Given the description of an element on the screen output the (x, y) to click on. 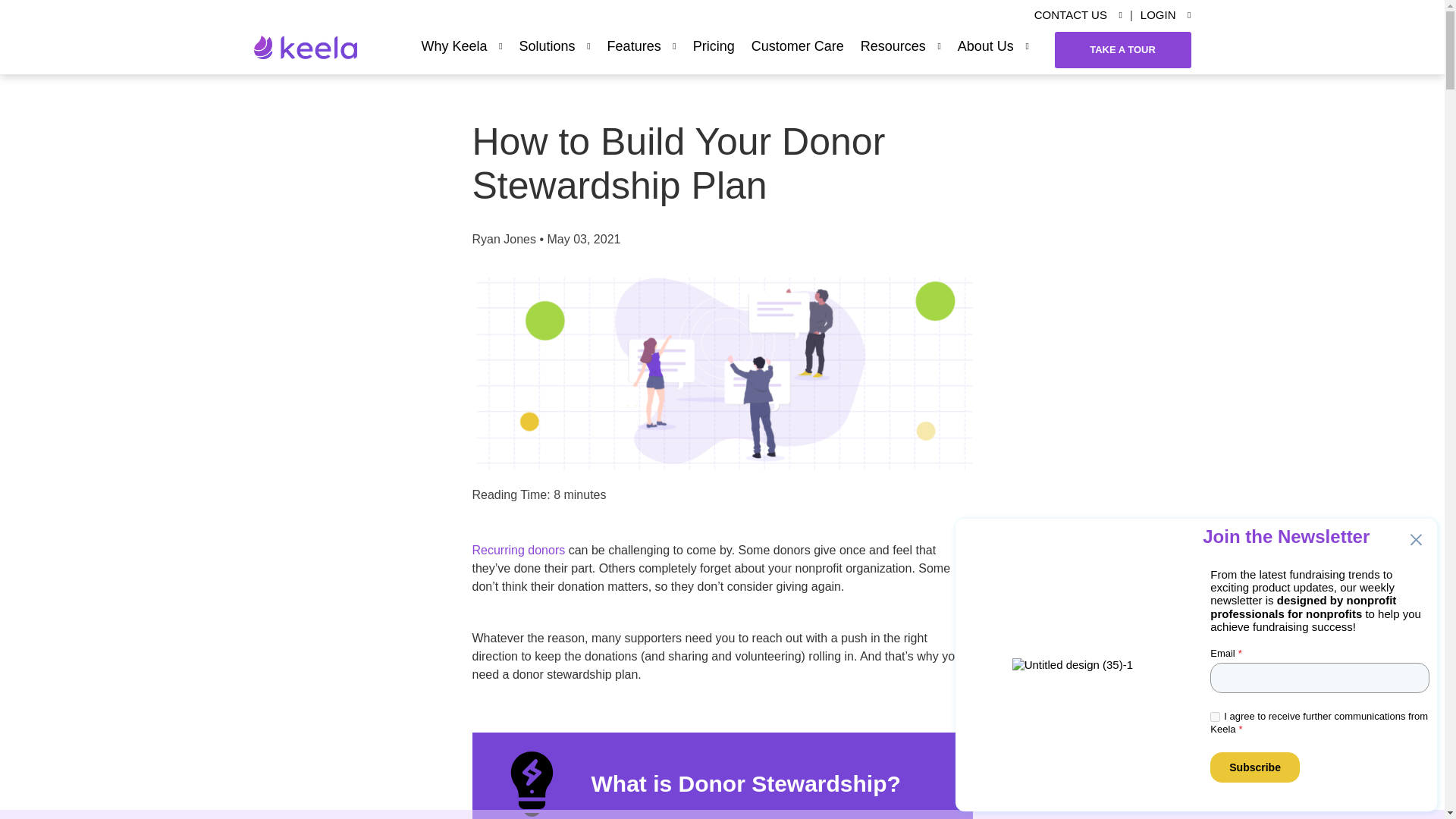
Pricing (714, 46)
CONTACT US (1077, 15)
Why Keela (462, 46)
LOGIN (1165, 15)
Solutions (555, 46)
Customer Care (797, 46)
Features (642, 46)
